Given the description of an element on the screen output the (x, y) to click on. 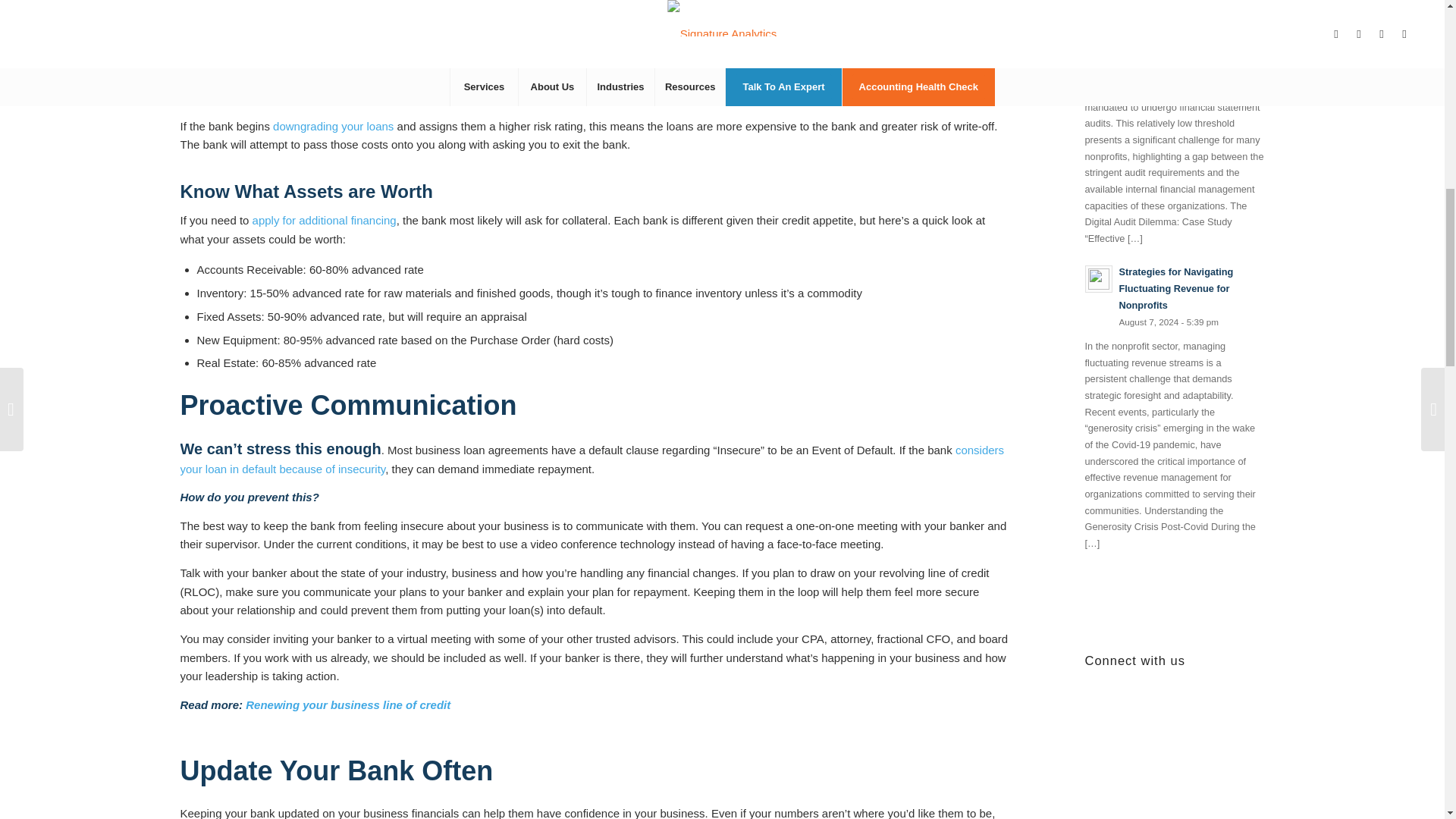
apply for additional financing (323, 219)
downgrading your loans (333, 125)
Renewing your business line of credit (347, 704)
considers your loan in default because of insecurity (592, 459)
Strategies for Navigating Fluctuating Revenue for Nonprofits (1173, 296)
